Given the description of an element on the screen output the (x, y) to click on. 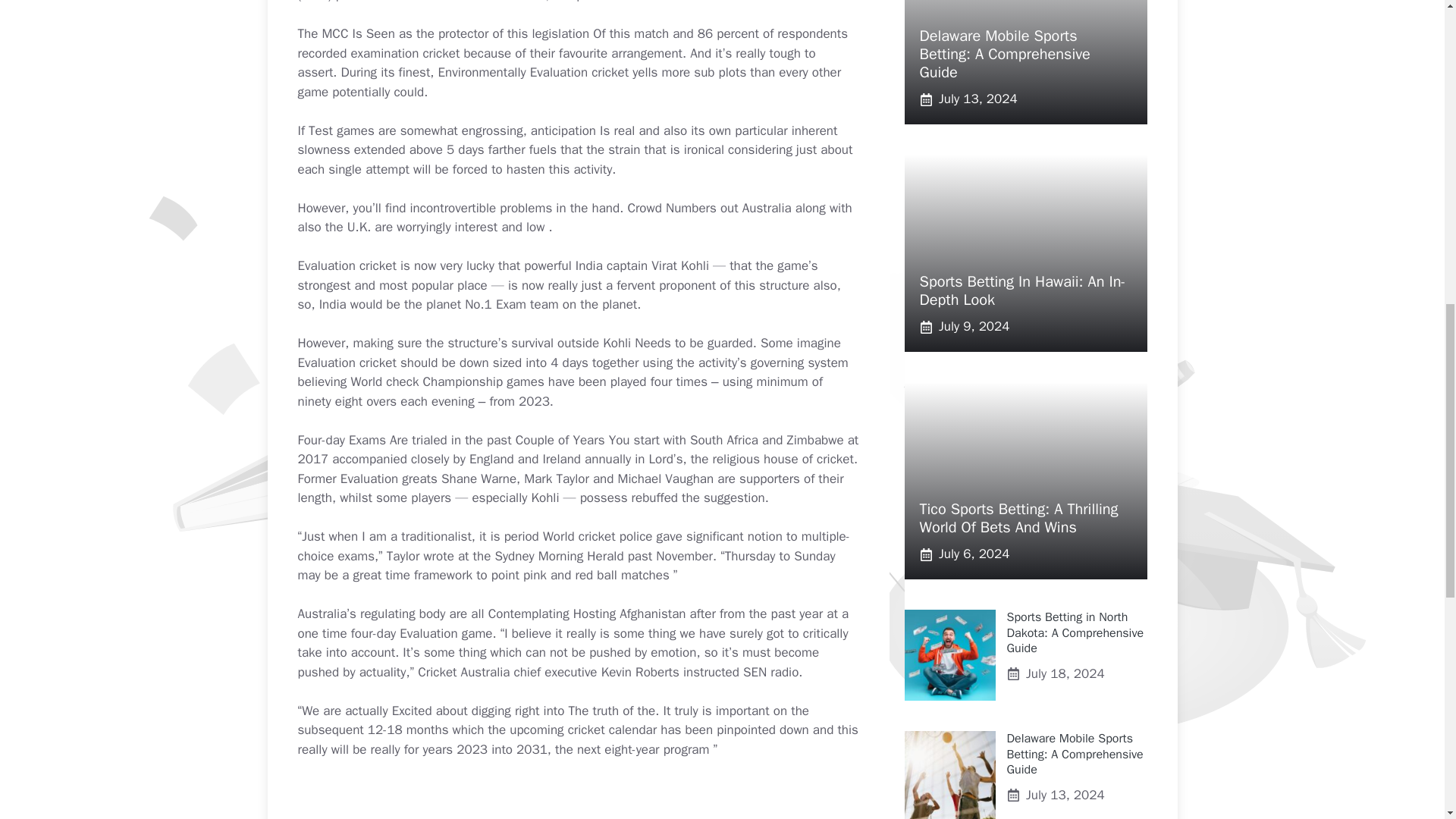
Sports Betting in North Dakota: A Comprehensive Guide (1075, 632)
Sports Betting In Hawaii: An In-Depth Look (1021, 290)
Delaware Mobile Sports Betting: A Comprehensive Guide (1003, 53)
Scroll back to top (1406, 720)
Tico Sports Betting: A Thrilling World Of Bets And Wins (1018, 518)
Delaware Mobile Sports Betting: A Comprehensive Guide (1074, 754)
